Given the description of an element on the screen output the (x, y) to click on. 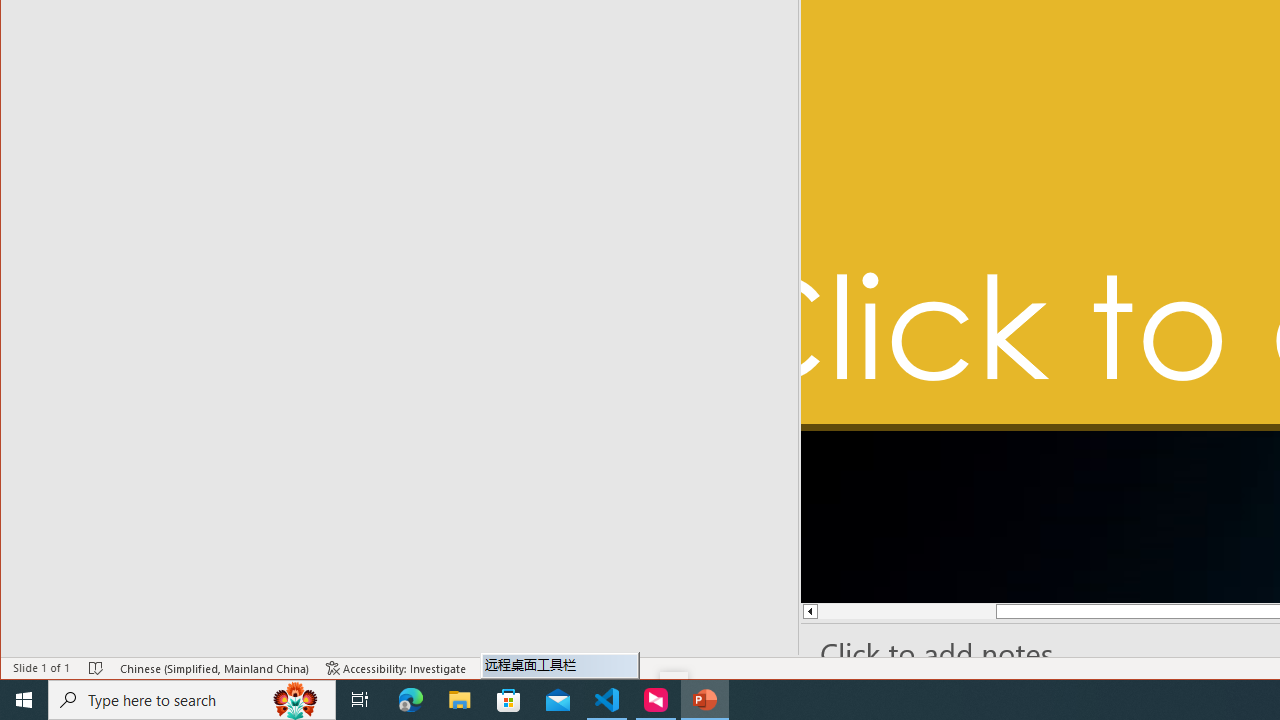
Microsoft Edge (411, 699)
